Given the description of an element on the screen output the (x, y) to click on. 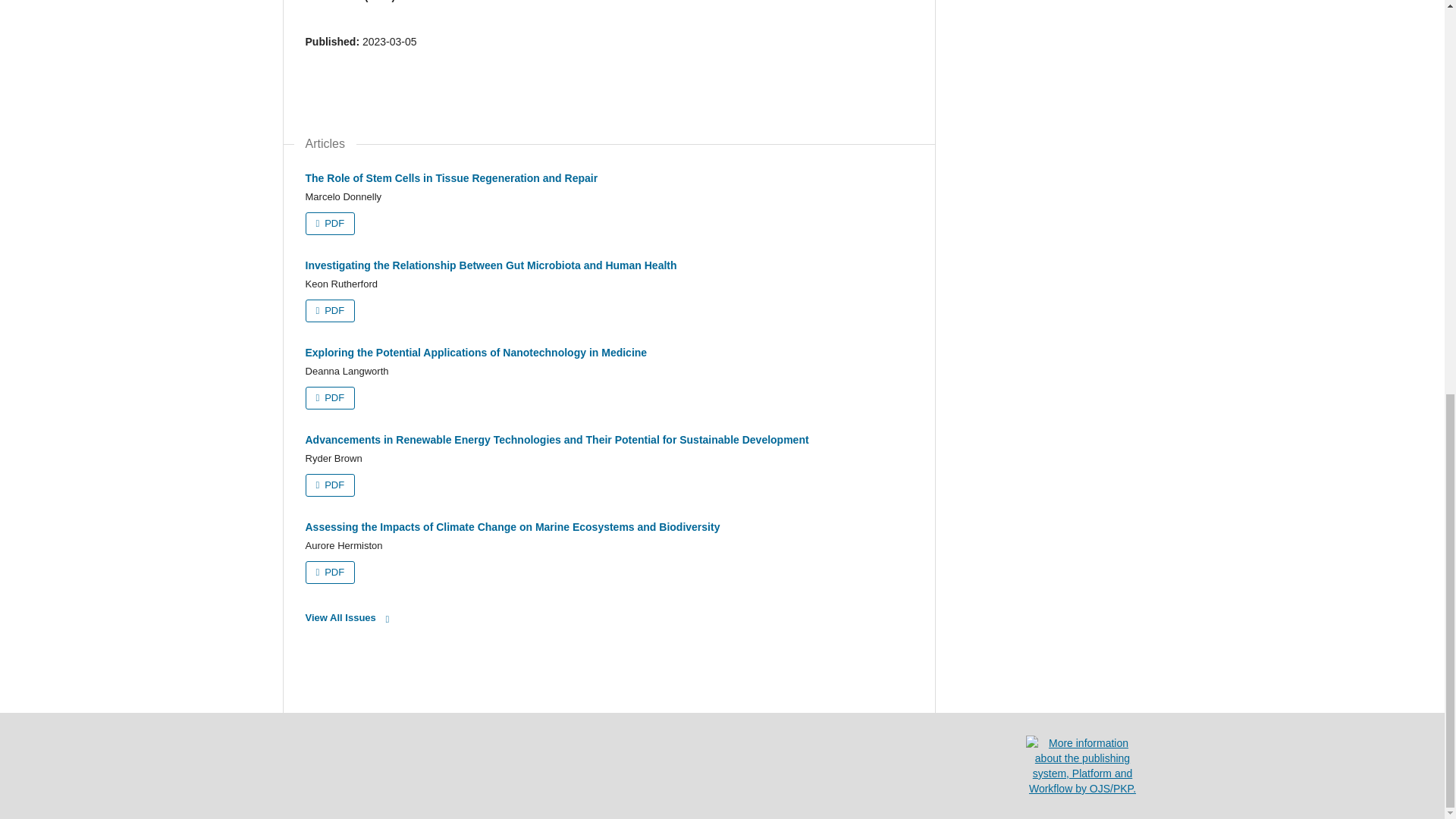
PDF (329, 310)
The Role of Stem Cells in Tissue Regeneration and Repair (450, 177)
PDF (329, 397)
PDF (329, 485)
View All Issues (350, 617)
PDF (329, 572)
PDF (329, 223)
